Given the description of an element on the screen output the (x, y) to click on. 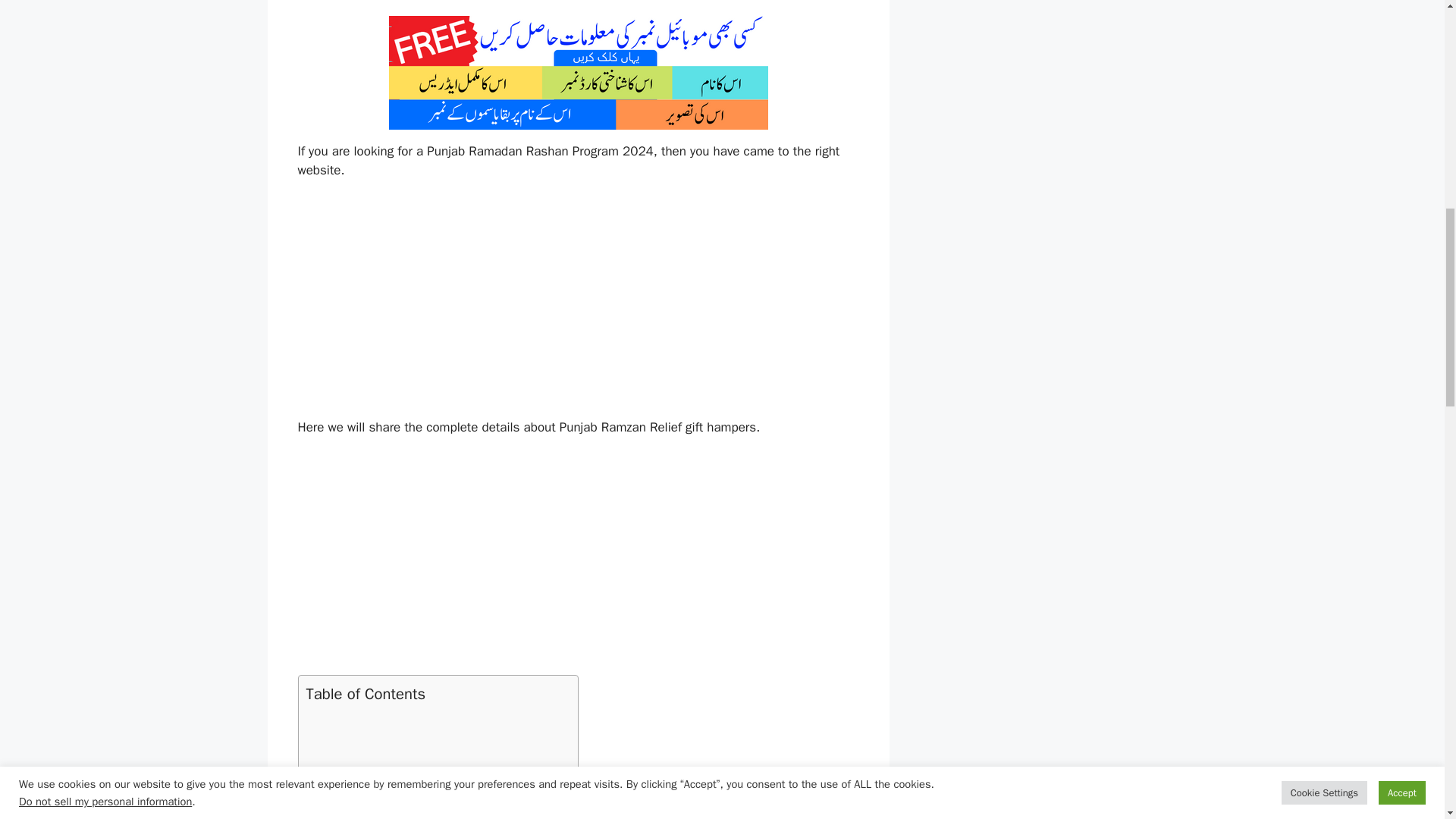
Advertisement (433, 765)
Advertisement (578, 562)
Advertisement (578, 305)
